Given the description of an element on the screen output the (x, y) to click on. 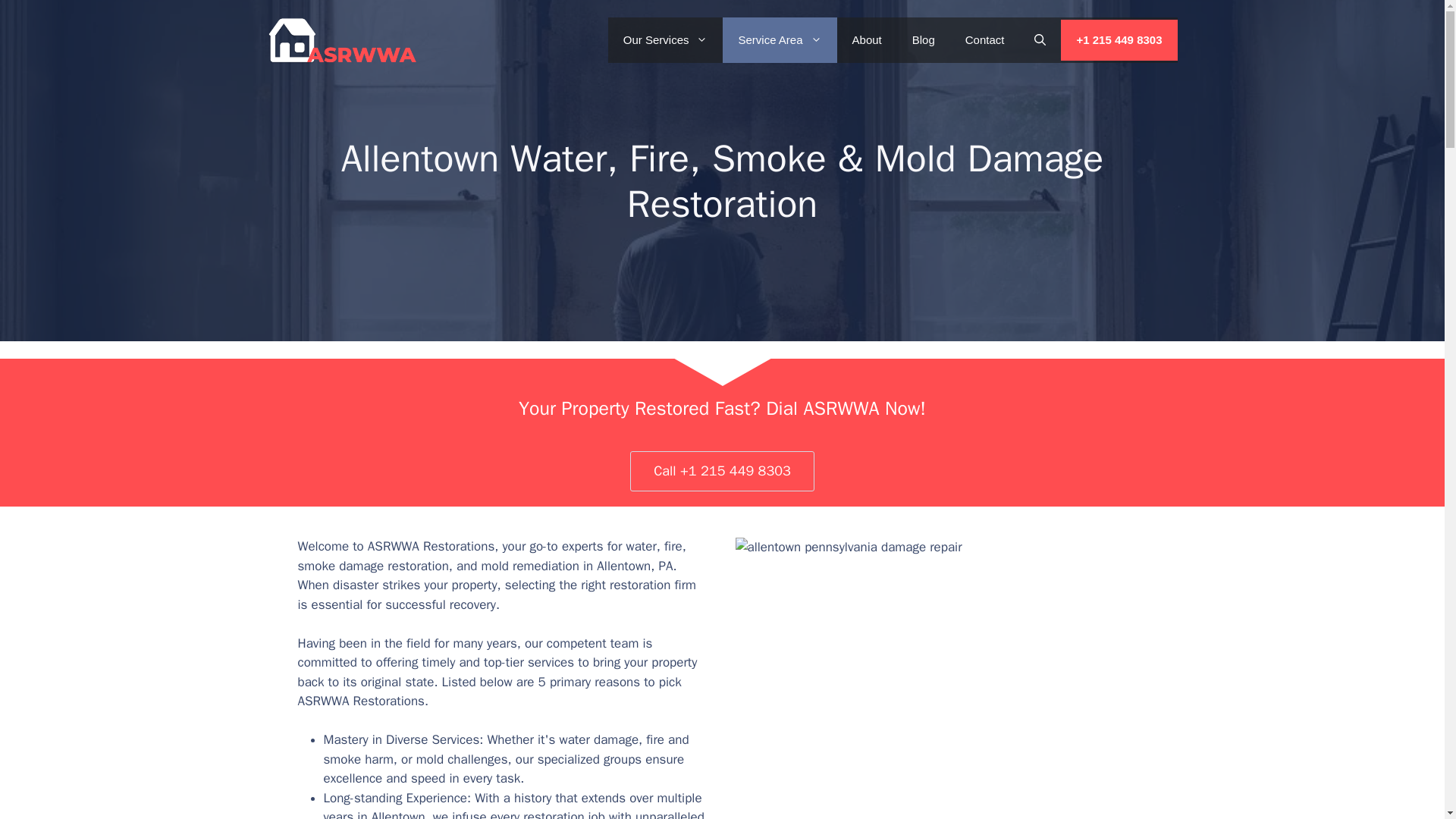
Contact (985, 40)
About (866, 40)
Service Area (778, 40)
Our Services (665, 40)
Blog (923, 40)
